Given the description of an element on the screen output the (x, y) to click on. 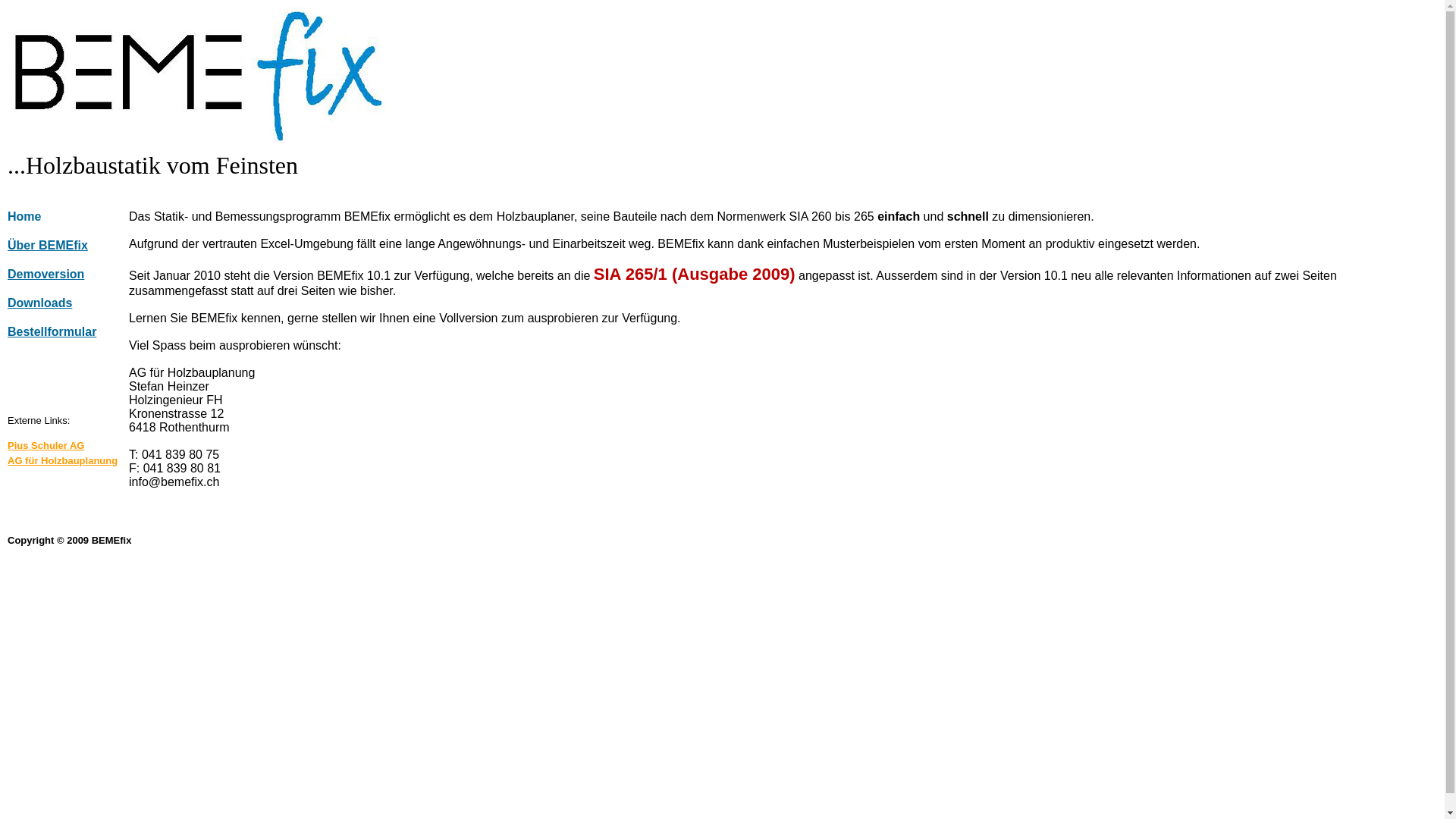
Pius Schuler AG Element type: text (67, 445)
Bestellformular Element type: text (67, 331)
Downloads Element type: text (67, 303)
Demoversion Element type: text (67, 274)
